Given the description of an element on the screen output the (x, y) to click on. 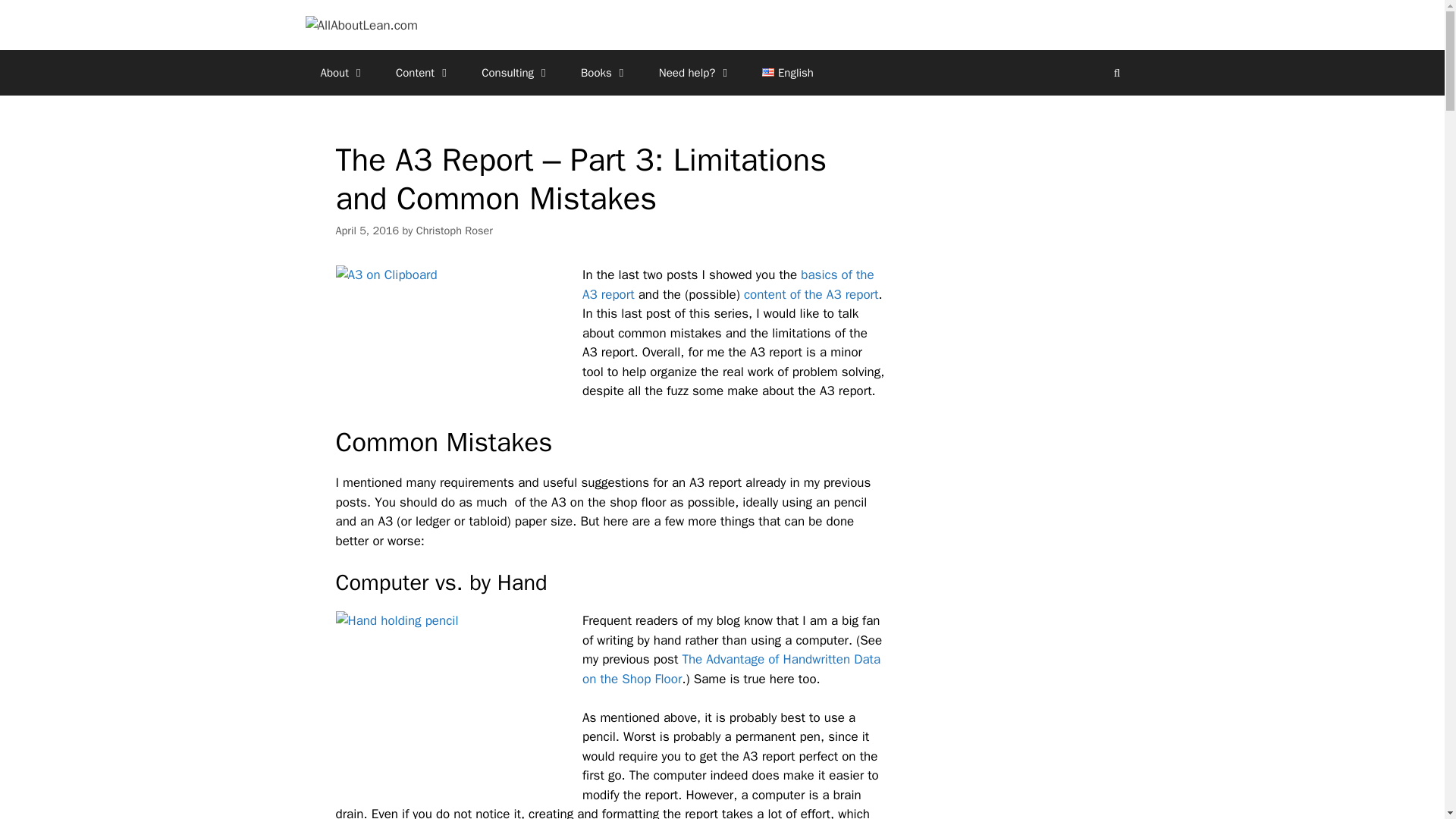
English (787, 72)
content of the A3 report (811, 294)
basics of the A3 report (728, 284)
Content (422, 72)
About the blog content (342, 72)
Consulting (515, 72)
Books (604, 72)
View all posts by Christoph Roser (454, 230)
Christoph Roser (454, 230)
Need help? (695, 72)
